Given the description of an element on the screen output the (x, y) to click on. 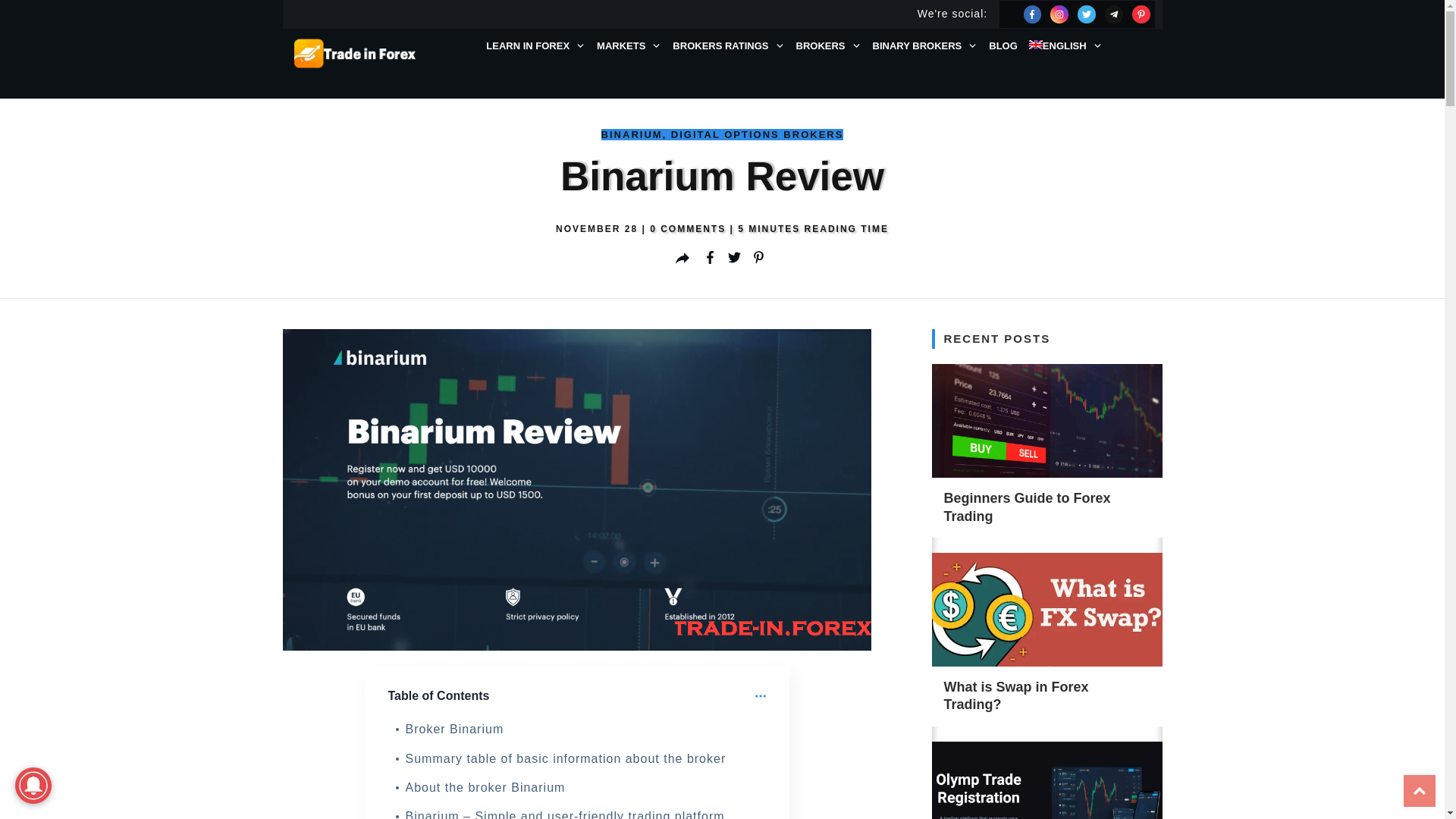
ENGLISH Element type: text (1065, 46)
LEARN IN FOREX Element type: text (535, 46)
MARKETS Element type: text (628, 46)
0 COMMENTS | 5 MINUTES READING TIME Element type: text (768, 228)
BROKERS Element type: text (828, 46)
Beginners Guide to Forex Trading Element type: text (1026, 506)
What is Swap in Forex Trading? Element type: text (1015, 695)
trade-in-forex-logo-white Element type: hover (356, 53)
BROKERS RATINGS Element type: text (728, 46)
BINARY BROKERS Element type: text (925, 46)
Binarium Review Element type: hover (576, 489)
DIGITAL OPTIONS BROKERS Element type: text (757, 134)
NOVEMBER 28 Element type: text (598, 228)
BINARIUM Element type: text (631, 134)
BLOG Element type: text (1002, 46)
Summary table of basic information about the broker Element type: text (564, 758)
About the broker Binarium Element type: text (484, 787)
Broker Binarium Element type: text (453, 729)
